Given the description of an element on the screen output the (x, y) to click on. 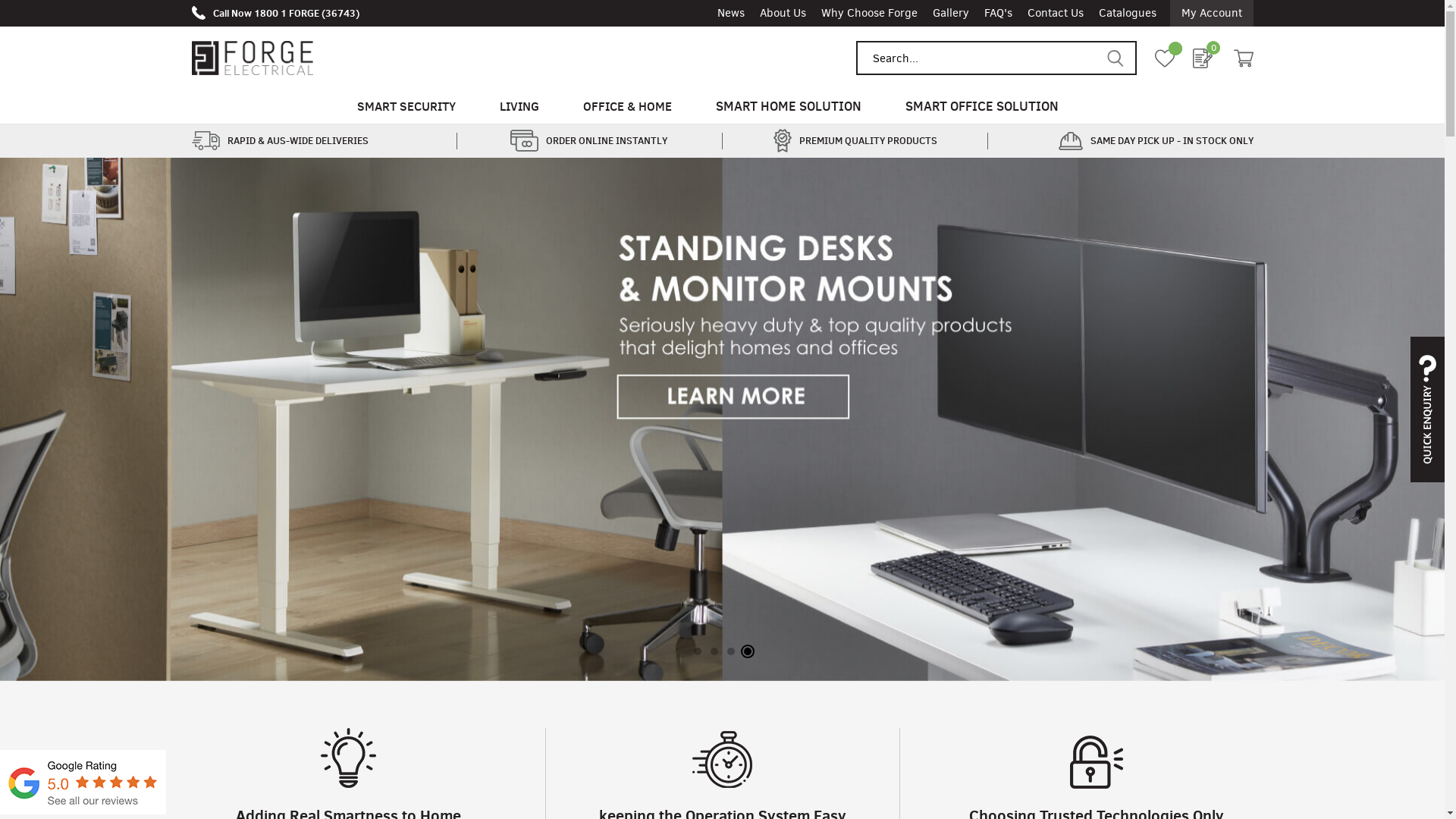
News Element type: text (730, 13)
SMART SECURITY Element type: text (406, 106)
Glass Hardware Melbourne Element type: hover (83, 810)
Catalogues Element type: text (1126, 13)
Gallery Element type: text (950, 13)
My Favorite Element type: hover (1163, 58)
SMART HOME SOLUTION Element type: text (788, 106)
Call Now 1800 1 FORGE (36743) Element type: text (274, 12)
Forge Electrical Element type: hover (251, 57)
My Cart Element type: text (1242, 58)
My Account Element type: text (1210, 13)
FAQ's Element type: text (998, 13)
0 Element type: text (1201, 58)
About Us Element type: text (782, 13)
LIVING Element type: text (519, 106)
SMART OFFICE SOLUTION Element type: text (981, 106)
Why Choose Forge Element type: text (868, 13)
Contact Us Element type: text (1054, 13)
OFFICE & HOME Element type: text (627, 106)
